Given the description of an element on the screen output the (x, y) to click on. 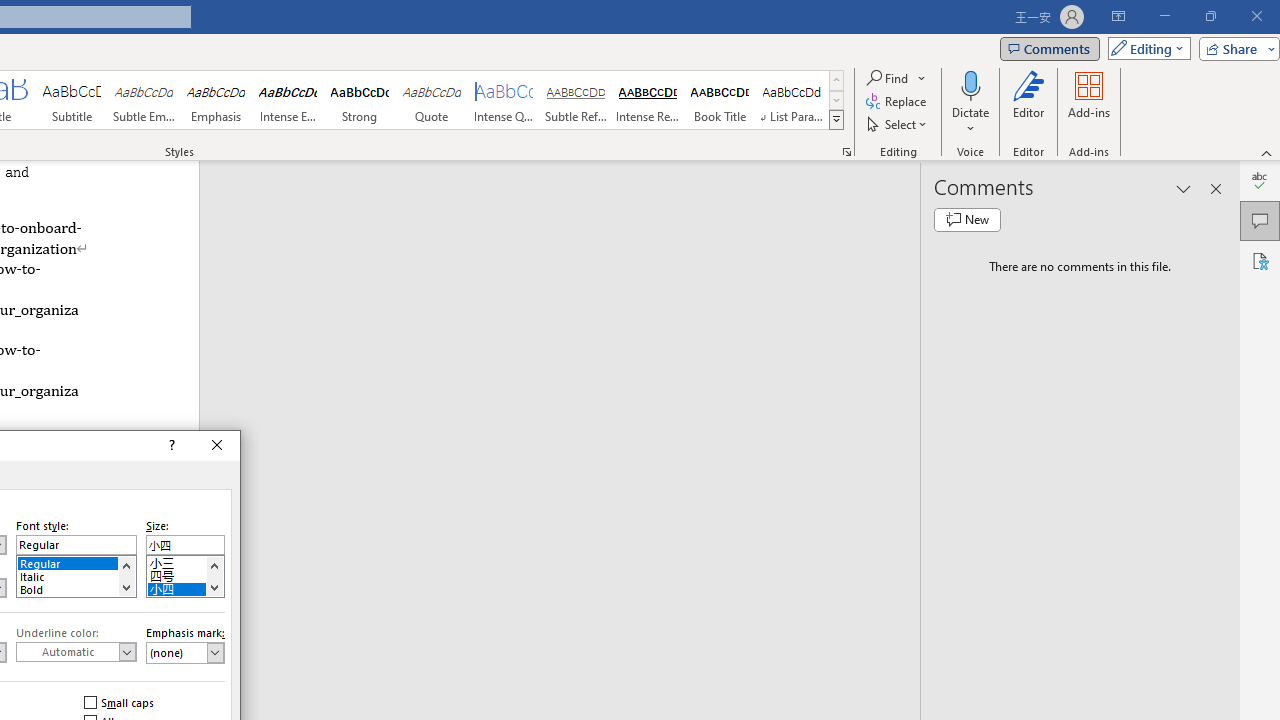
Comments (1049, 48)
AutomationID: 1795 (125, 576)
Close pane (1215, 188)
Replace... (897, 101)
RichEdit Control (185, 544)
Editor (1028, 102)
Intense Quote (504, 100)
Emphasis (216, 100)
Small caps (120, 702)
Collapse the Ribbon (1267, 152)
Quote (431, 100)
Task Pane Options (1183, 188)
Find (896, 78)
Emphasis mark: (185, 652)
